Given the description of an element on the screen output the (x, y) to click on. 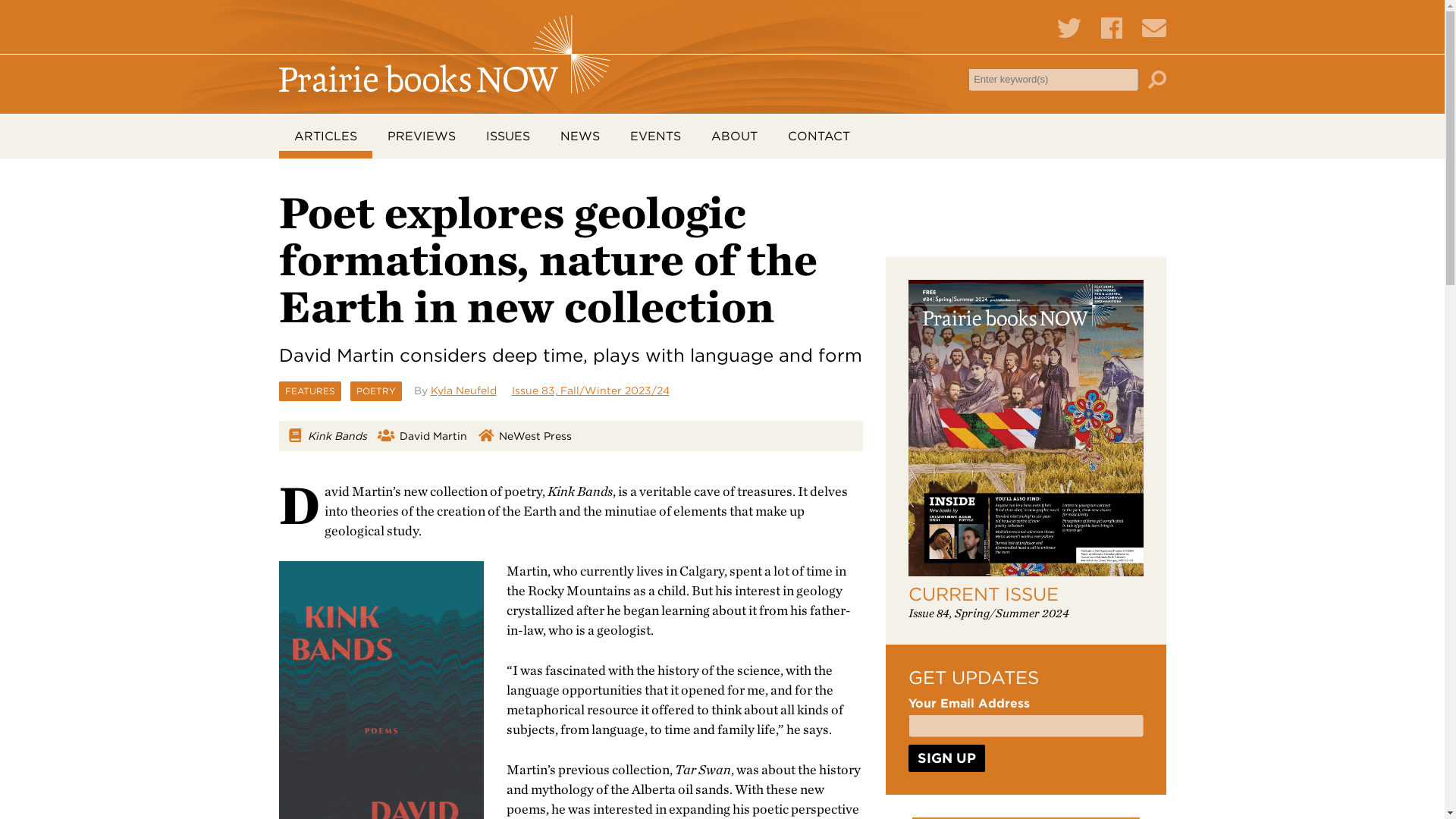
Follow us on Facebook (1111, 27)
CONTACT (817, 136)
EVENTS (654, 136)
Search (1157, 78)
Follow us on Facebook (1111, 27)
Search (1157, 78)
Follow us on Facebook (1111, 28)
ARTICLES (325, 136)
Sign up for our newsletter (1153, 27)
Search (1157, 78)
Follow us on Twitter (1069, 28)
NeWest Press (535, 435)
Sign up for our newsletter (1153, 28)
Follow us on Twitter (1069, 27)
Follow us on Twitter (1069, 27)
